Given the description of an element on the screen output the (x, y) to click on. 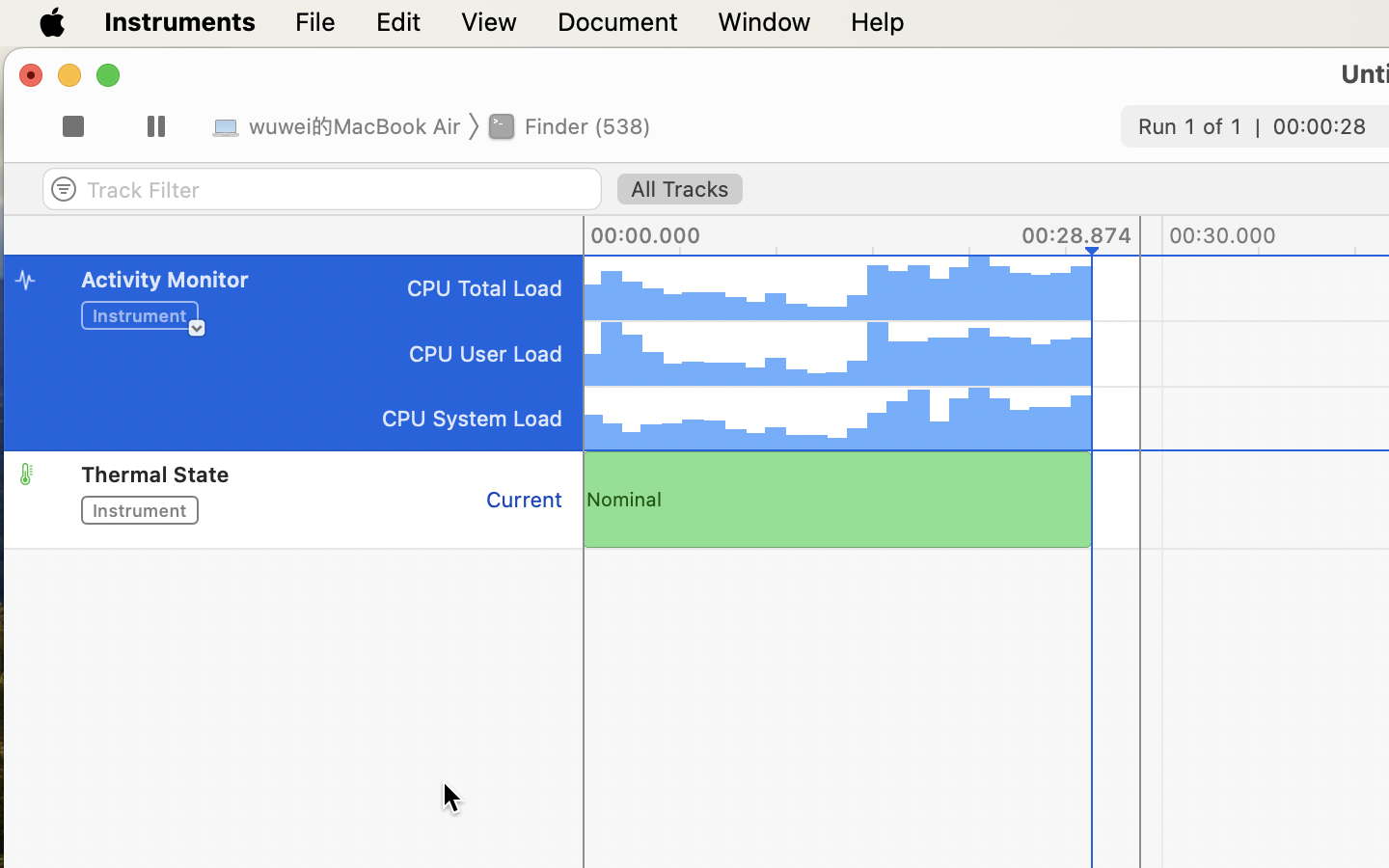
1 Element type: AXCheckBox (679, 189)
wuwei的MacBook Air Element type: AXPopUpButton (339, 125)
51 Element type: AXSplitter (292, 548)
Finder (538) Element type: AXPopUpButton (571, 125)
101 Element type: AXSplitter (292, 450)
